Given the description of an element on the screen output the (x, y) to click on. 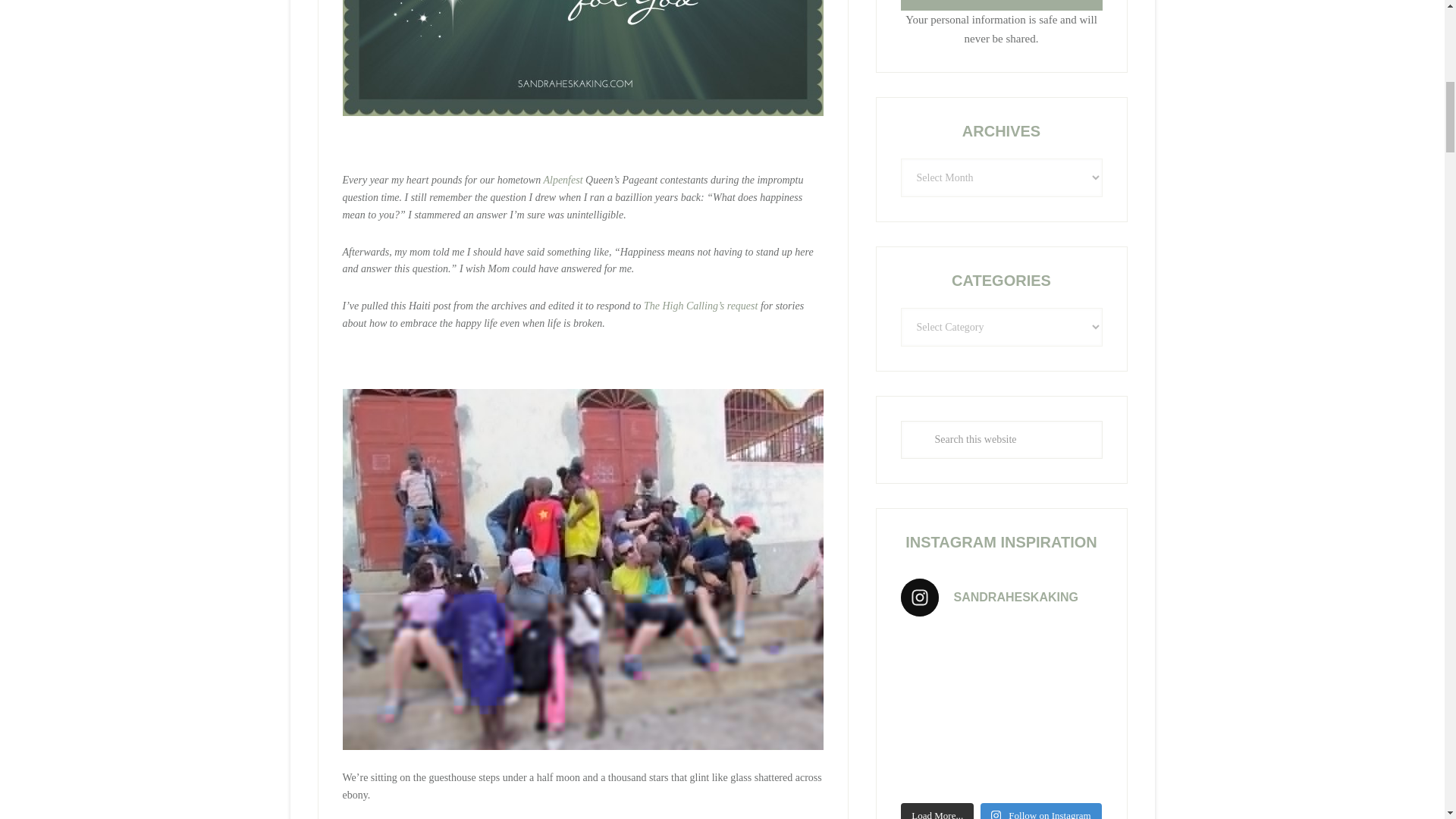
Alpenfest (562, 179)
Subscribe (1001, 5)
